Given the description of an element on the screen output the (x, y) to click on. 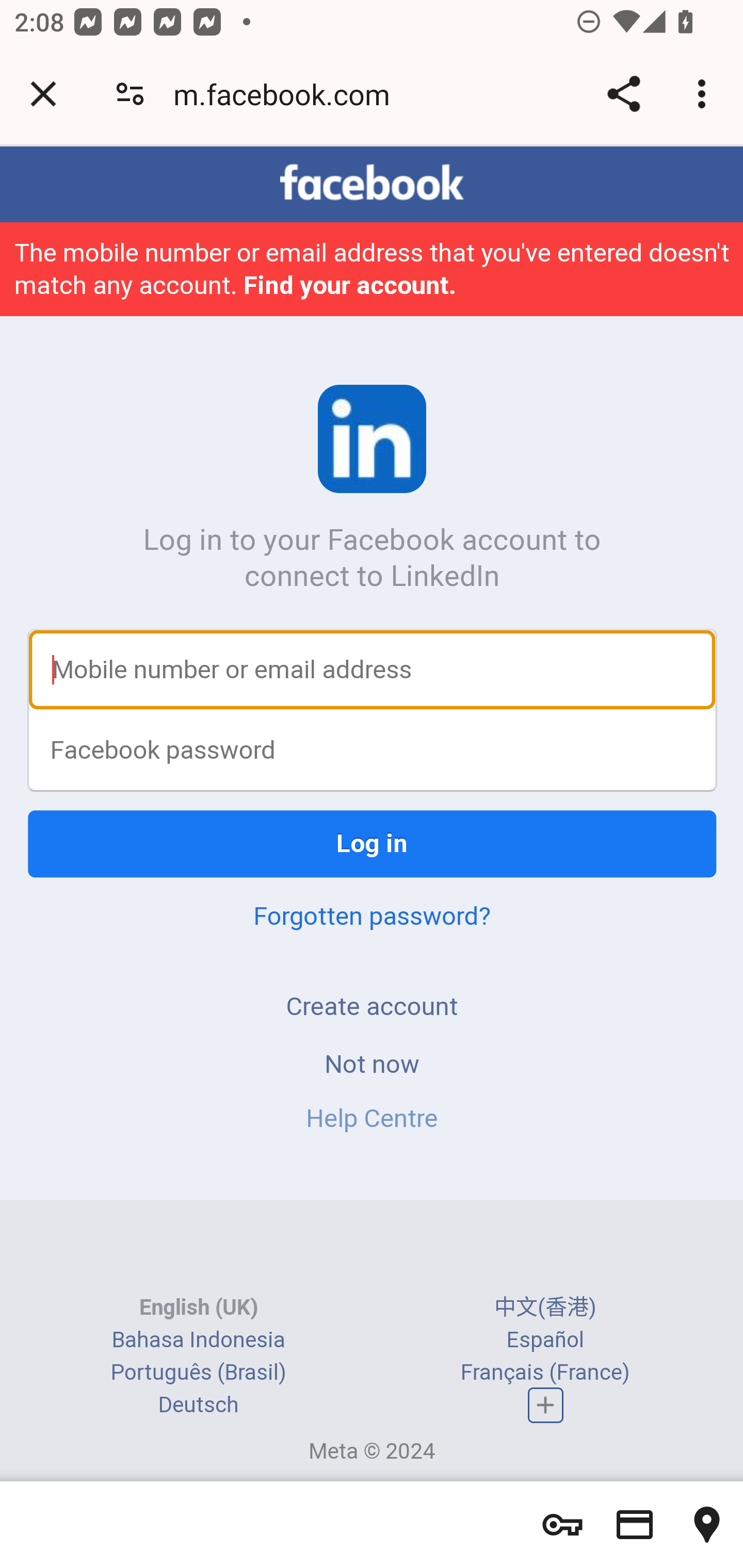
Close tab (43, 93)
Share (623, 93)
Customize and control Google Chrome (705, 93)
Connection is secure (129, 93)
m.facebook.com (288, 93)
facebook (371, 183)
Find your account. (349, 286)
Log in (372, 845)
Forgotten password? (371, 917)
Create account (371, 1007)
Not now (371, 1065)
Help Centre (371, 1120)
中文(香港) (544, 1307)
Bahasa Indonesia (198, 1339)
Español (545, 1339)
Português (Brasil) (197, 1373)
Français (France) (544, 1373)
Complete list of languages (545, 1406)
Deutsch (197, 1406)
Show saved passwords and password options (562, 1524)
Show saved payment methods (634, 1524)
Show saved addresses (706, 1524)
